Given the description of an element on the screen output the (x, y) to click on. 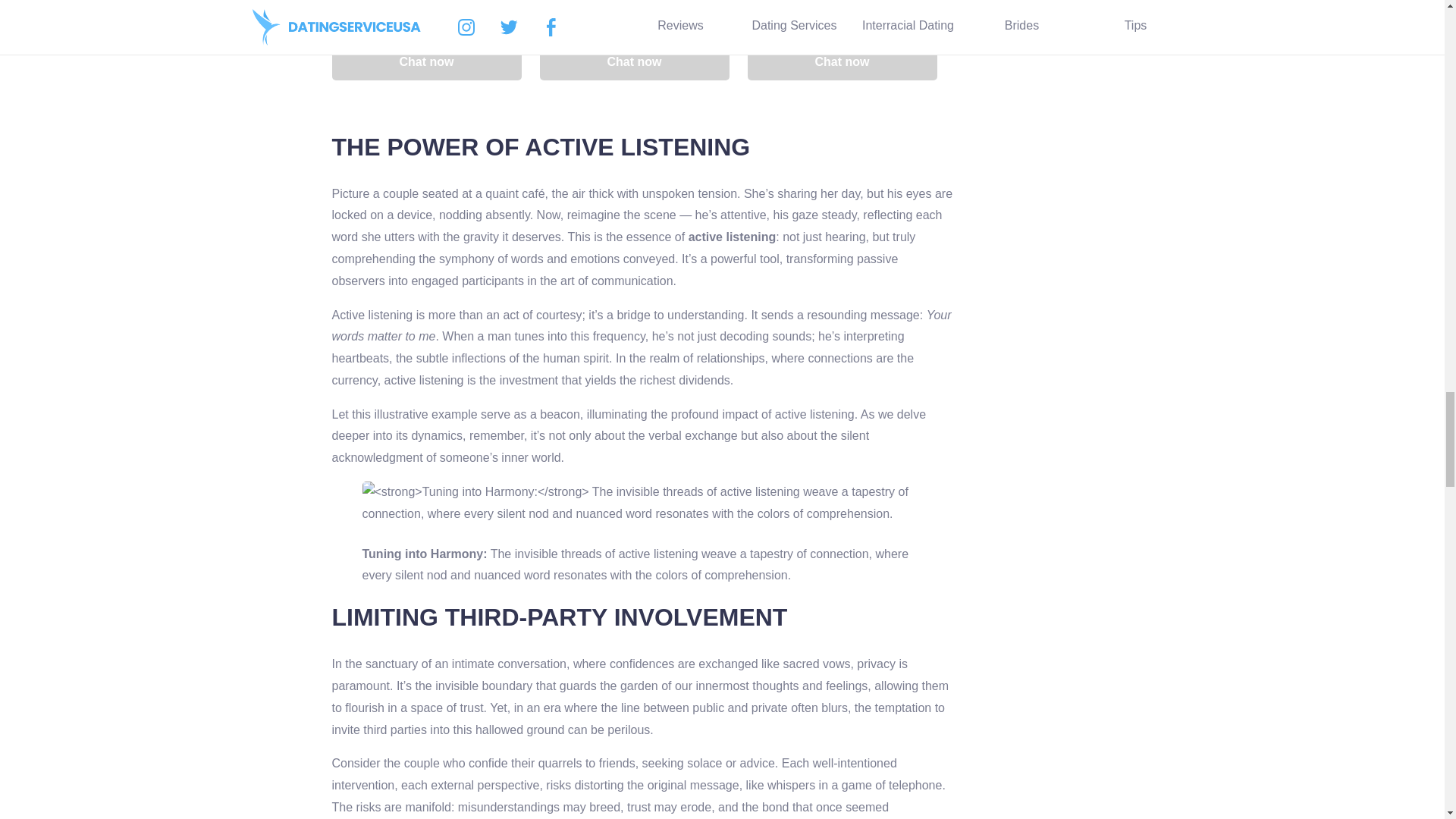
Chat now (842, 62)
Chat now (426, 62)
Chat now (634, 62)
